Given the description of an element on the screen output the (x, y) to click on. 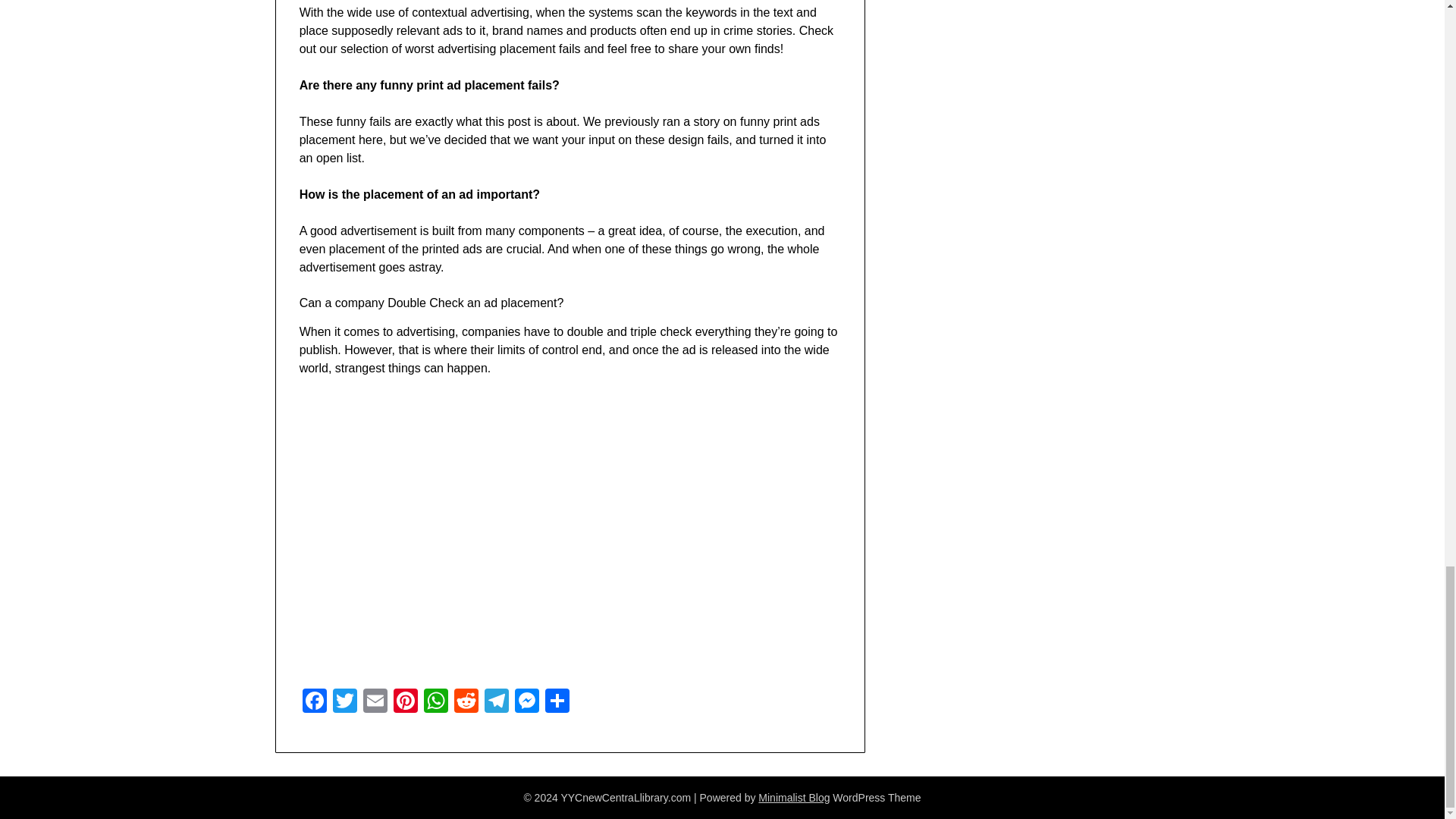
Reddit (466, 702)
Twitter (344, 702)
Email (374, 702)
WhatsApp (435, 702)
Pinterest (405, 702)
Messenger (526, 702)
Minimalist Blog (793, 797)
Facebook (314, 702)
Facebook (314, 702)
Reddit (466, 702)
Top 10 Marketing Fails: Coke, Ford, Netflix (541, 532)
Telegram (496, 702)
WhatsApp (435, 702)
Messenger (526, 702)
Pinterest (405, 702)
